Given the description of an element on the screen output the (x, y) to click on. 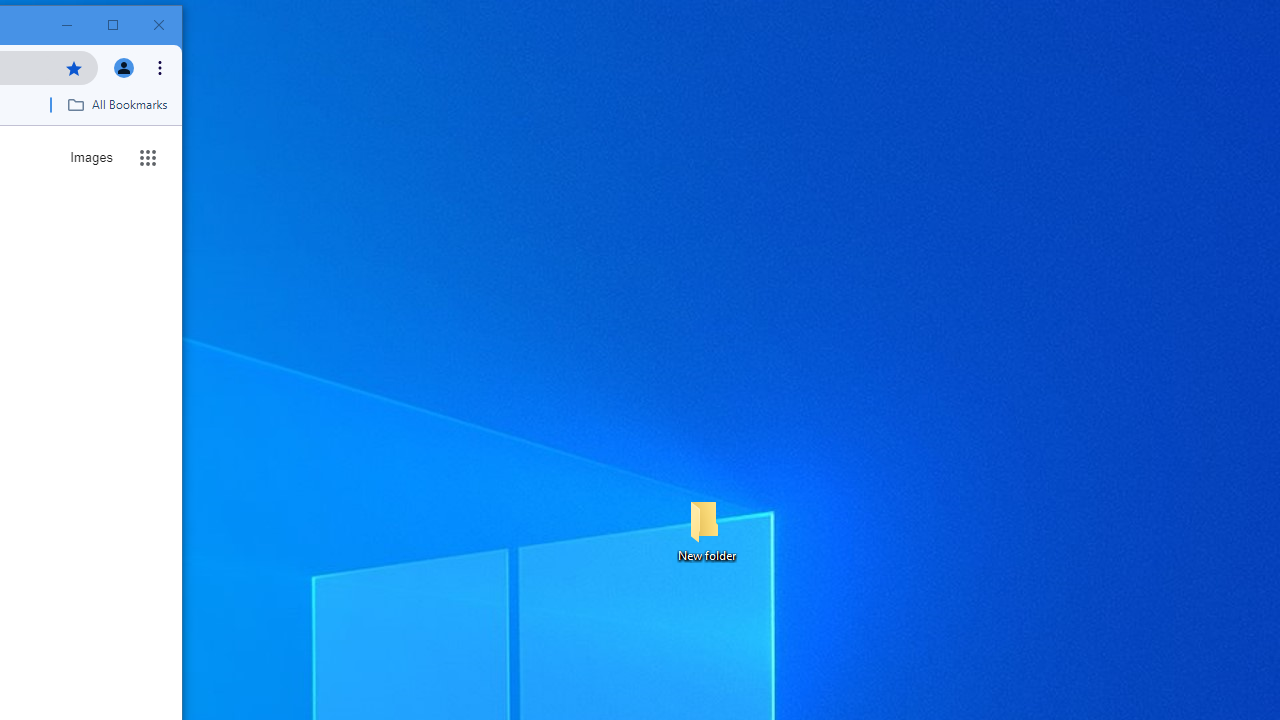
New folder (706, 530)
